Given the description of an element on the screen output the (x, y) to click on. 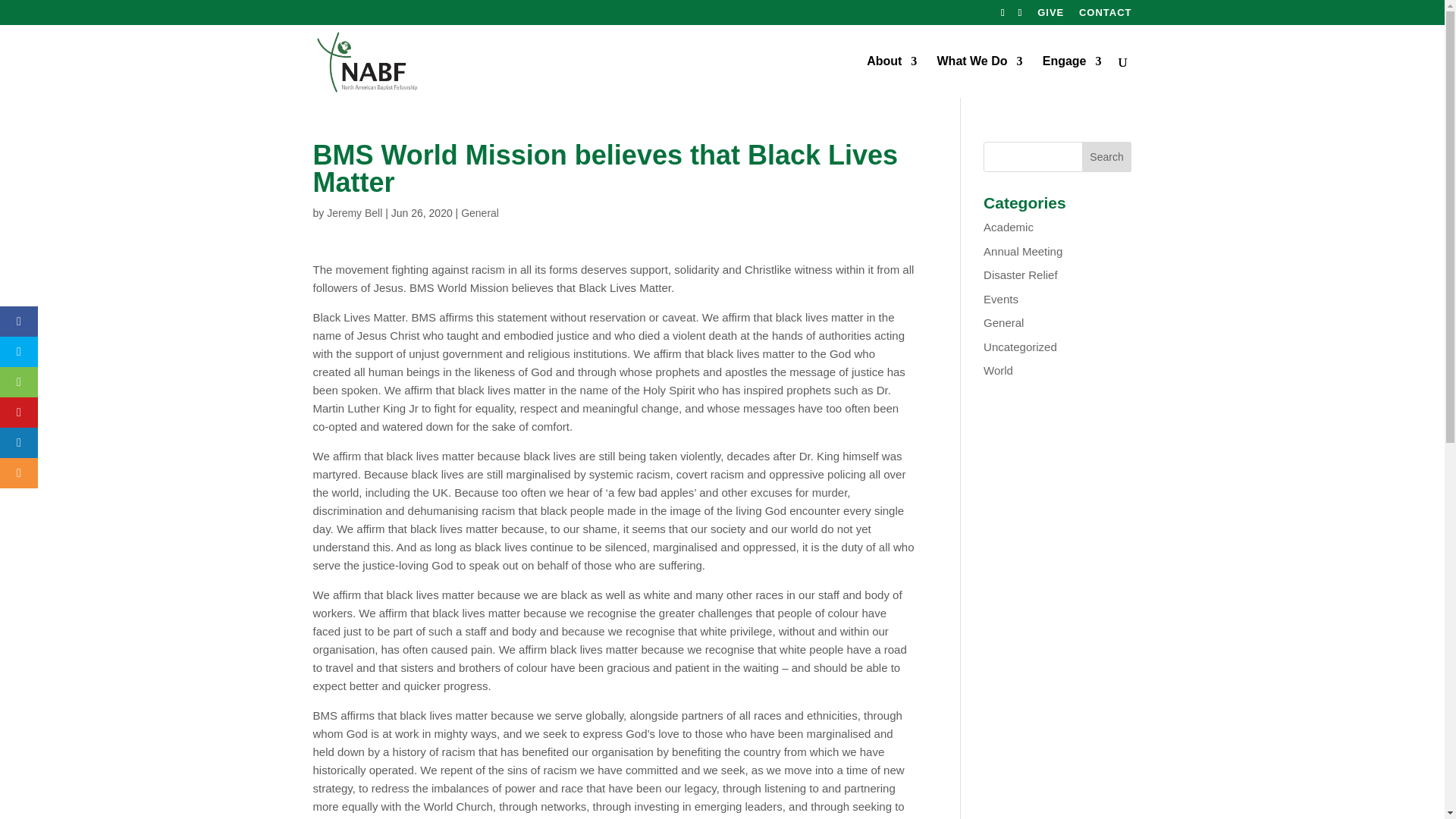
Jeremy Bell (353, 213)
Search (1106, 156)
What We Do (980, 76)
GIVE (1050, 16)
Academic (1008, 226)
Engage (1072, 76)
Search (1106, 156)
CONTACT (1105, 16)
About (891, 76)
General (480, 213)
